Given the description of an element on the screen output the (x, y) to click on. 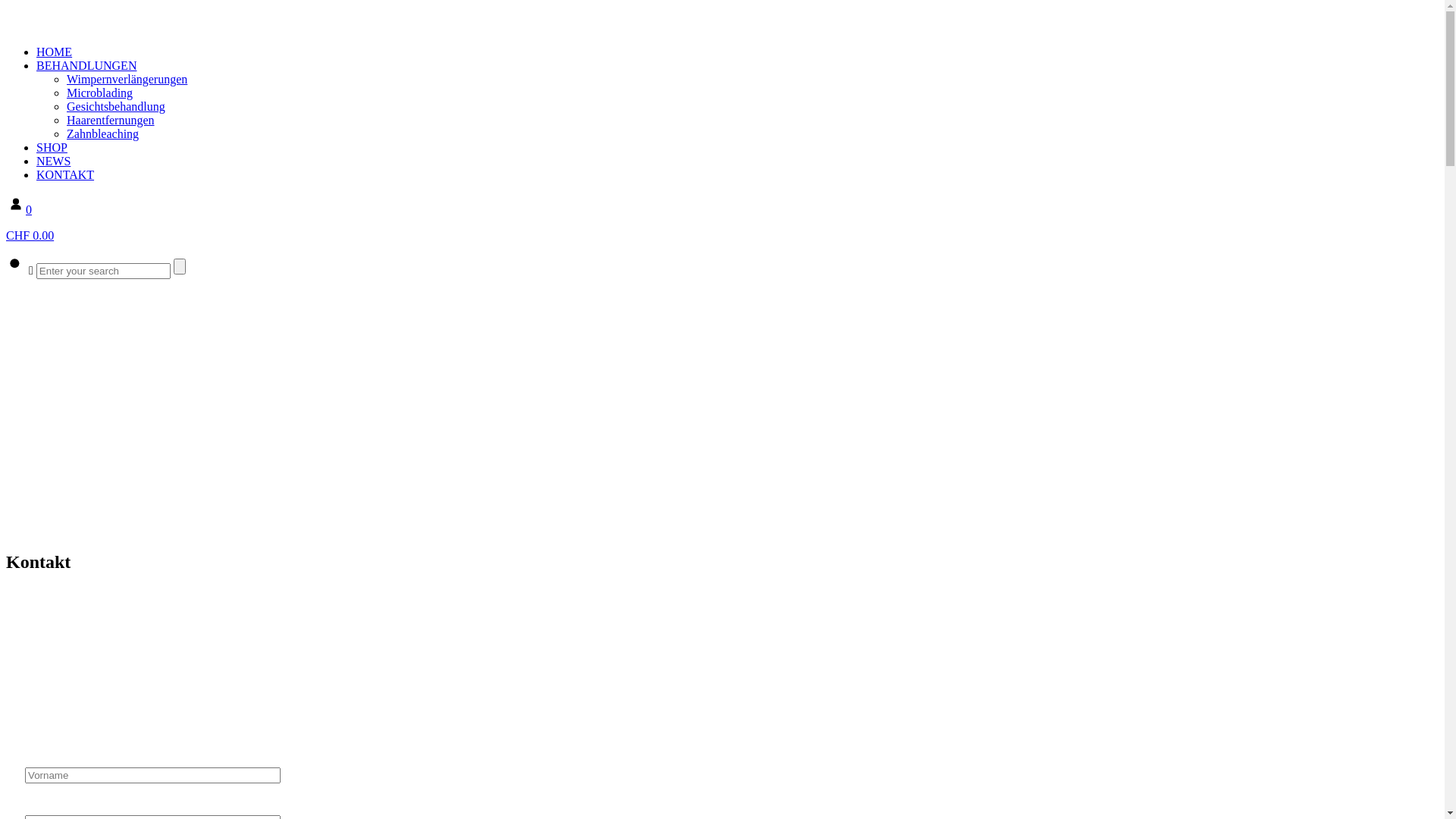
HOME Element type: text (54, 51)
Atamente GmbH Element type: hover (7, 25)
Gesichtsbehandlung Element type: text (115, 106)
SHOP Element type: text (51, 147)
NEWS Element type: text (53, 160)
Open Cookie Preferences Element type: hover (33, 799)
0
CHF 0.00 Element type: text (722, 222)
Microblading Element type: text (99, 92)
BEHANDLUNGEN Element type: text (86, 65)
KONTAKT Element type: text (65, 174)
Zahnbleaching Element type: text (102, 133)
Haarentfernungen Element type: text (110, 119)
